Given the description of an element on the screen output the (x, y) to click on. 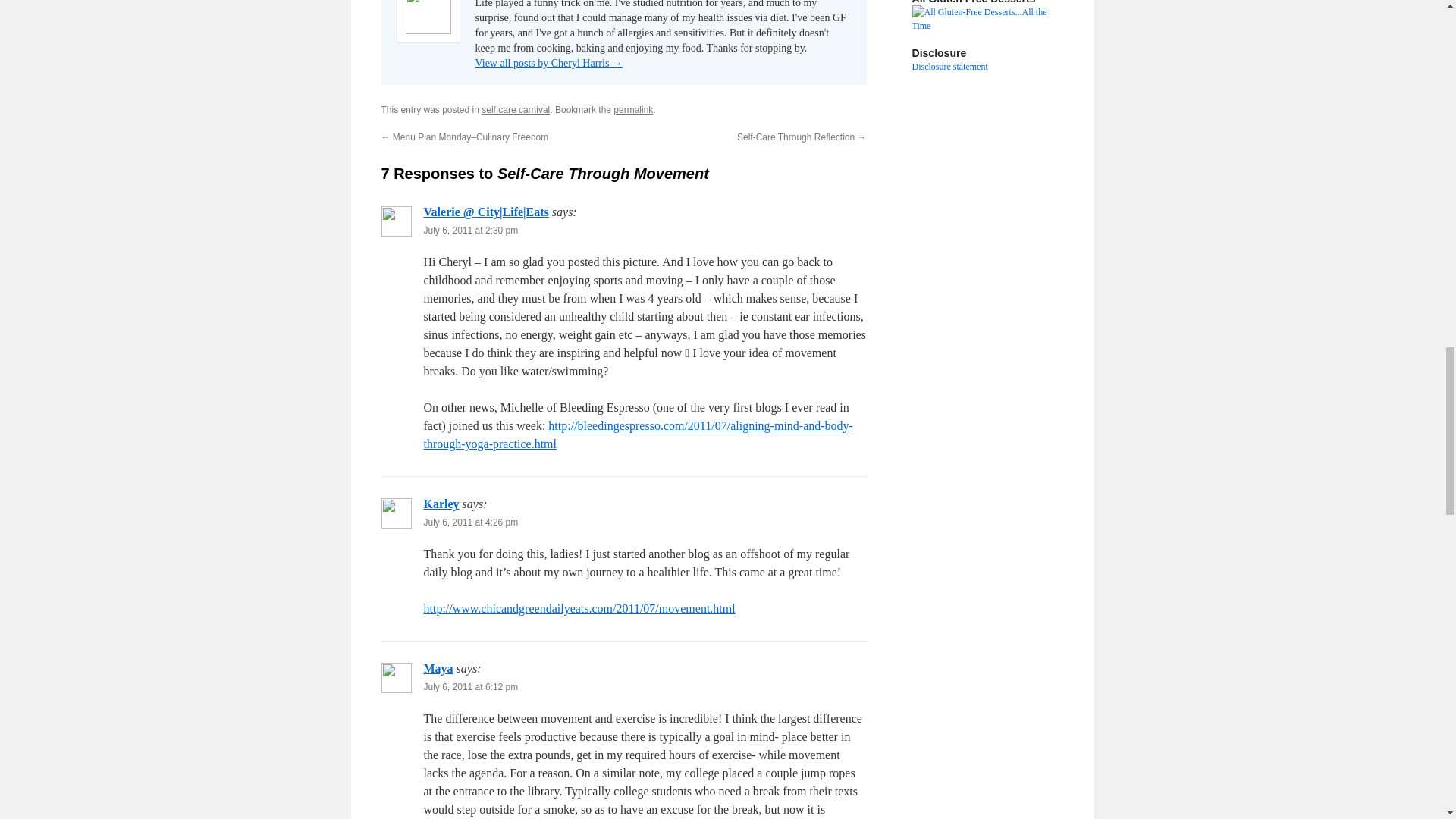
permalink (632, 109)
July 6, 2011 at 4:26 pm (470, 521)
July 6, 2011 at 2:30 pm (470, 230)
July 6, 2011 at 6:12 pm (470, 686)
Karley (440, 503)
All Gluten-Free Desserts...All the Time (986, 18)
self care carnival (515, 109)
Permalink to Self-Care Through Movement (632, 109)
Maya (437, 667)
